Given the description of an element on the screen output the (x, y) to click on. 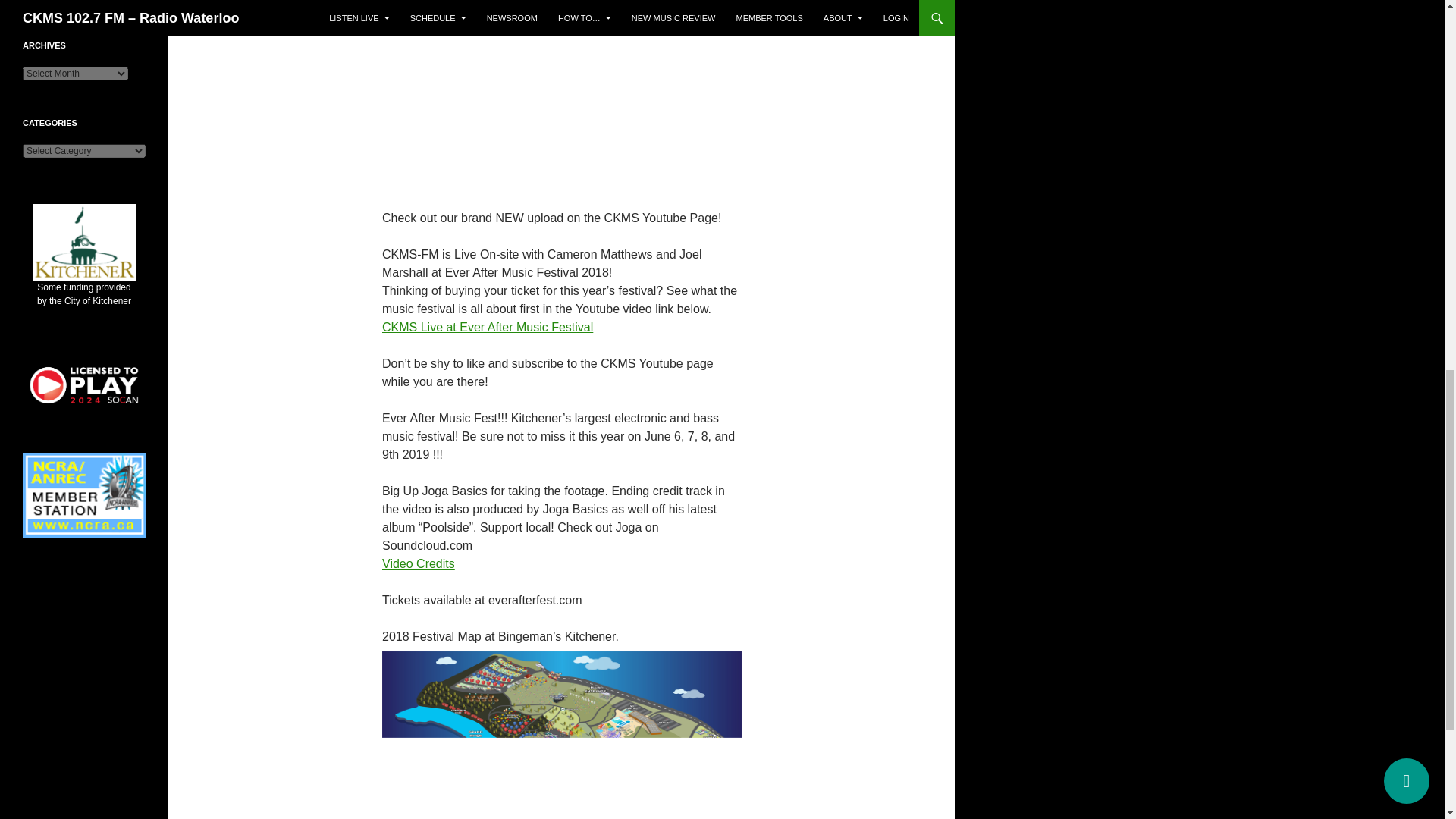
CKMS Live at Ever After Music Festival (486, 327)
City of Kitchener (83, 271)
Video Credits (417, 563)
Music Licensing - SOCAN (84, 385)
